Given the description of an element on the screen output the (x, y) to click on. 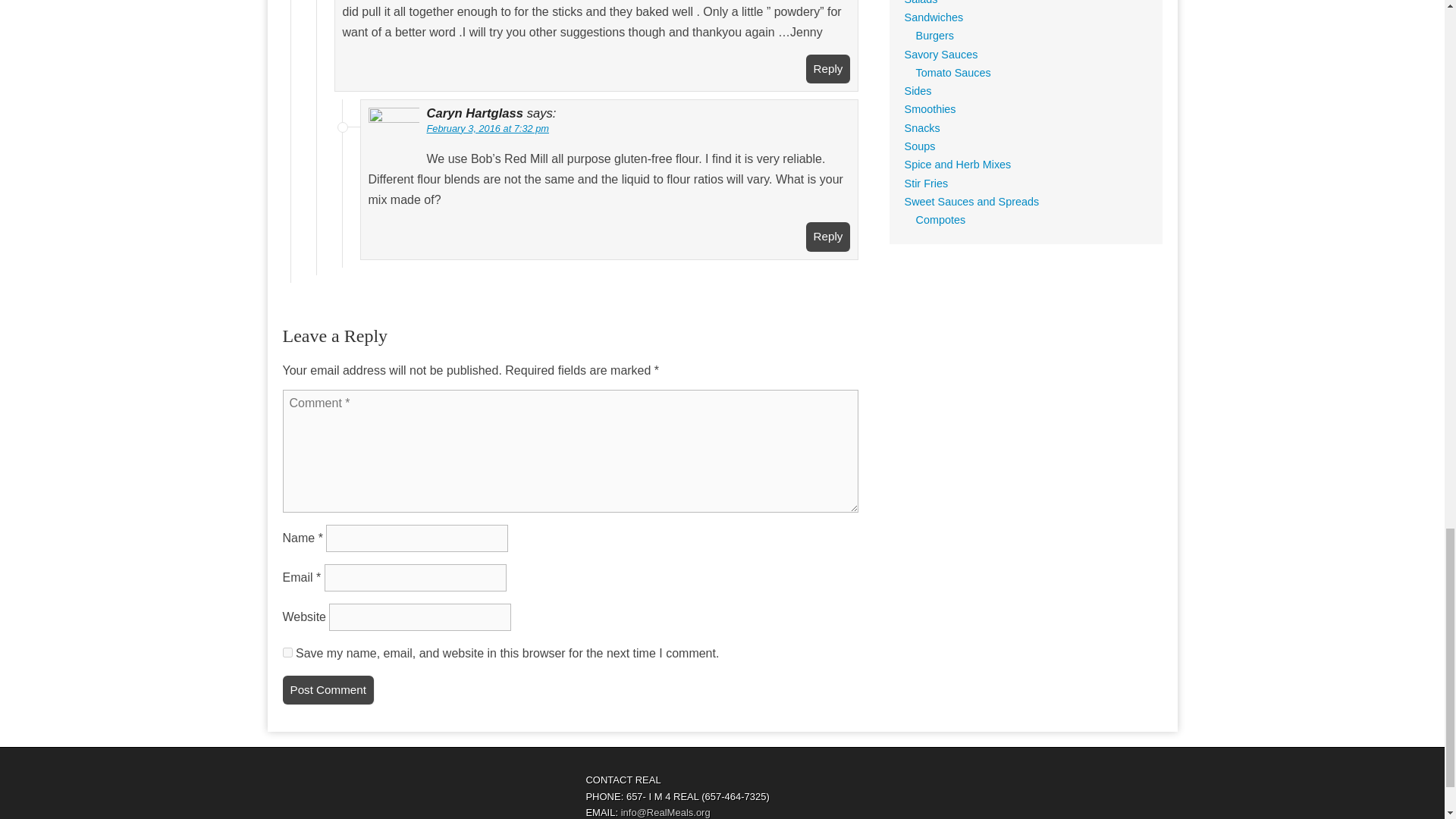
yes (287, 652)
Post Comment (327, 689)
